Given the description of an element on the screen output the (x, y) to click on. 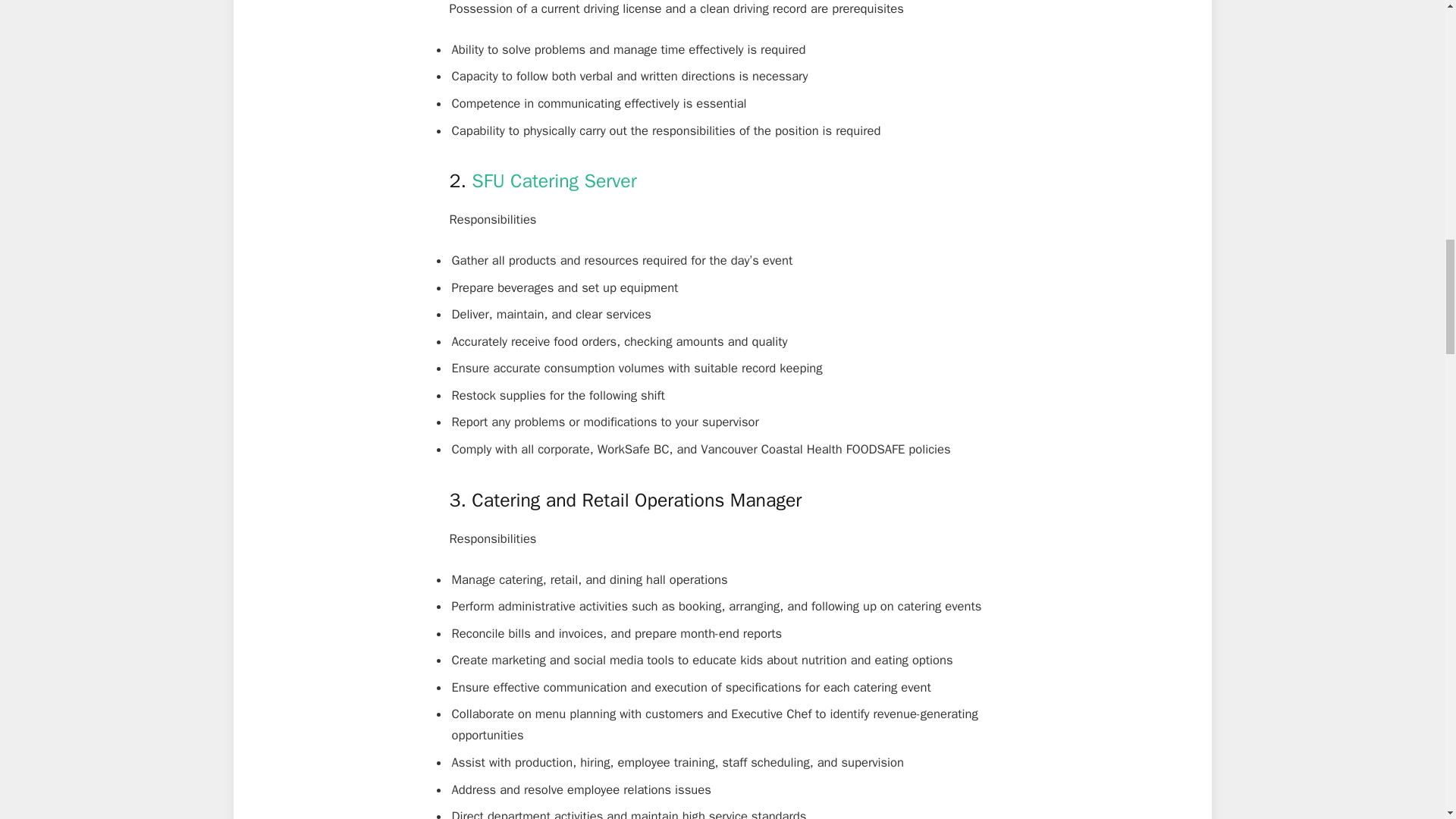
SFU Catering Server (553, 180)
